Given the description of an element on the screen output the (x, y) to click on. 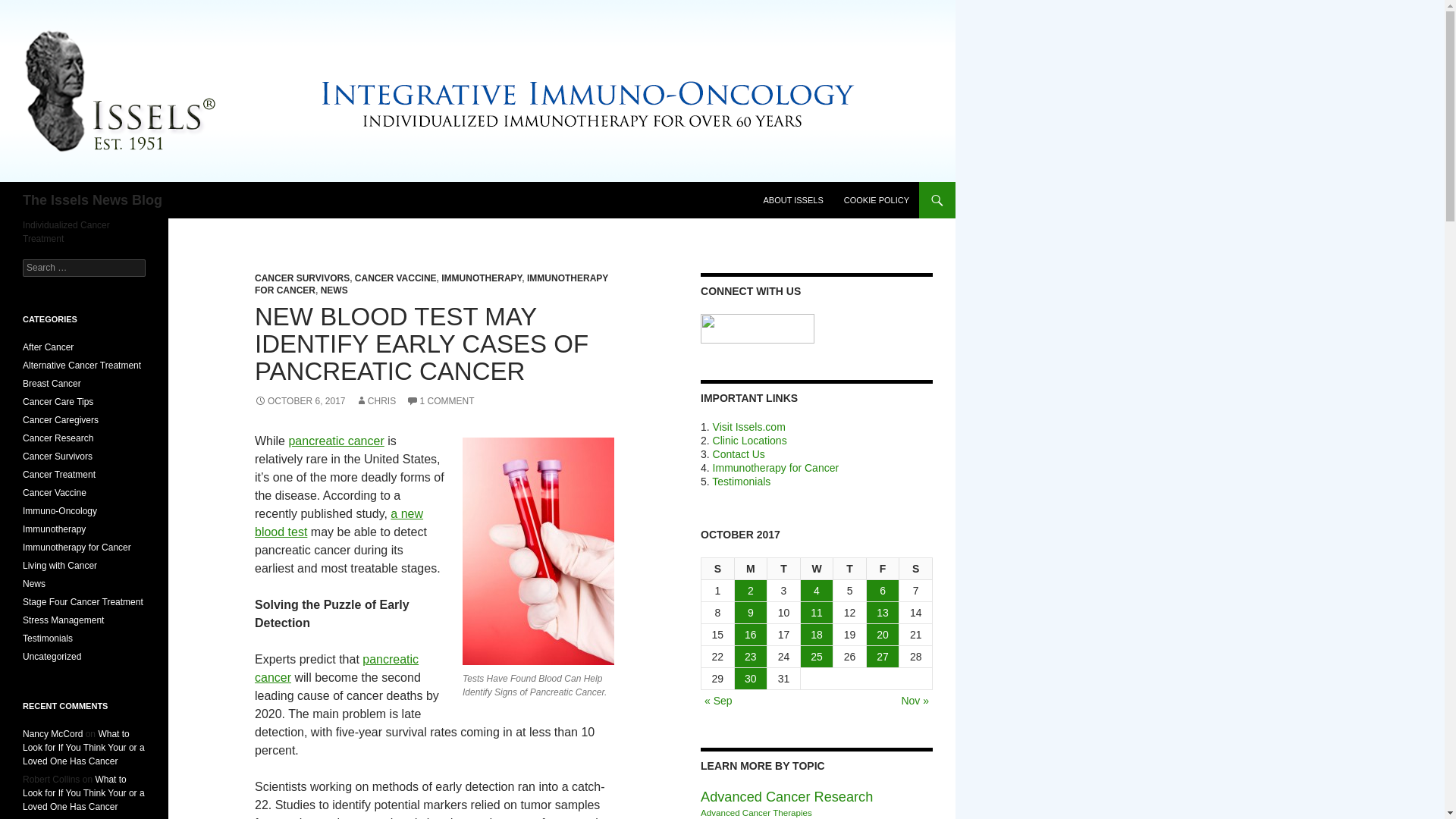
1 COMMENT (440, 400)
4 (816, 590)
Saturday (916, 568)
IMMUNOTHERAPY FOR CANCER (431, 283)
Thursday (849, 568)
2 (751, 590)
16 (751, 634)
Contact Us (739, 453)
Tuesday (783, 568)
